Given the description of an element on the screen output the (x, y) to click on. 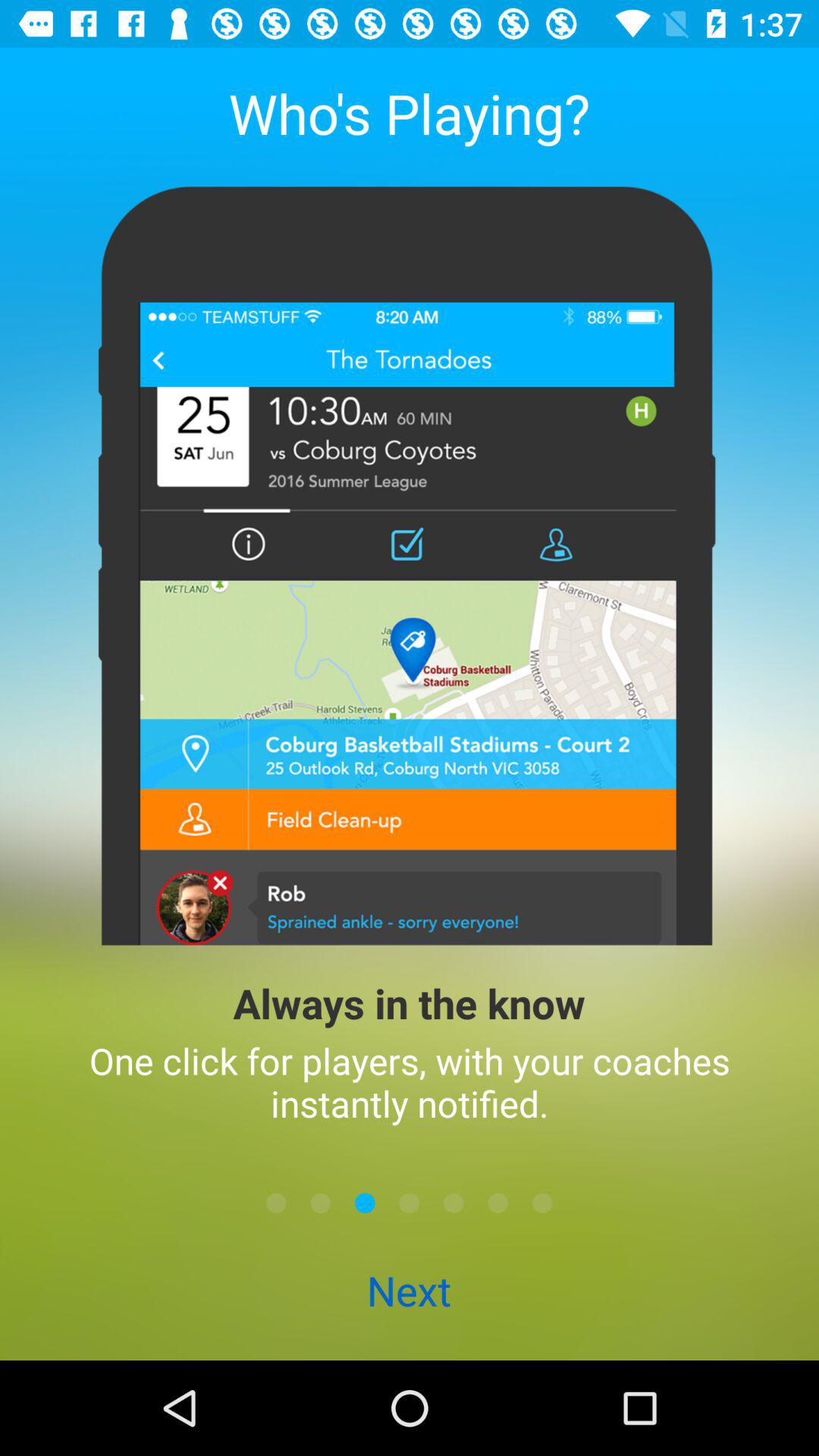
previous screen (320, 1203)
